Given the description of an element on the screen output the (x, y) to click on. 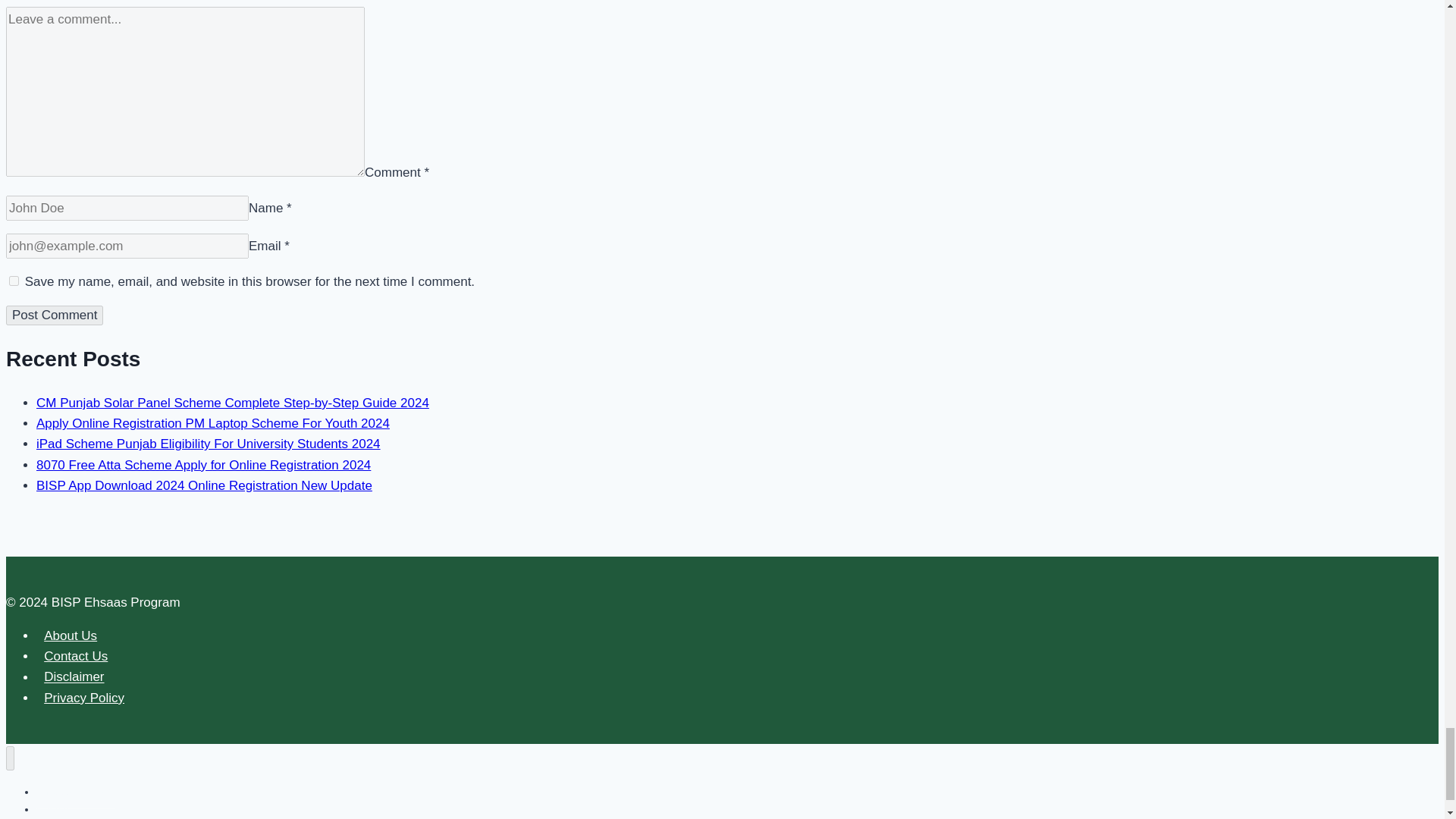
yes (13, 280)
Post Comment (54, 315)
